Given the description of an element on the screen output the (x, y) to click on. 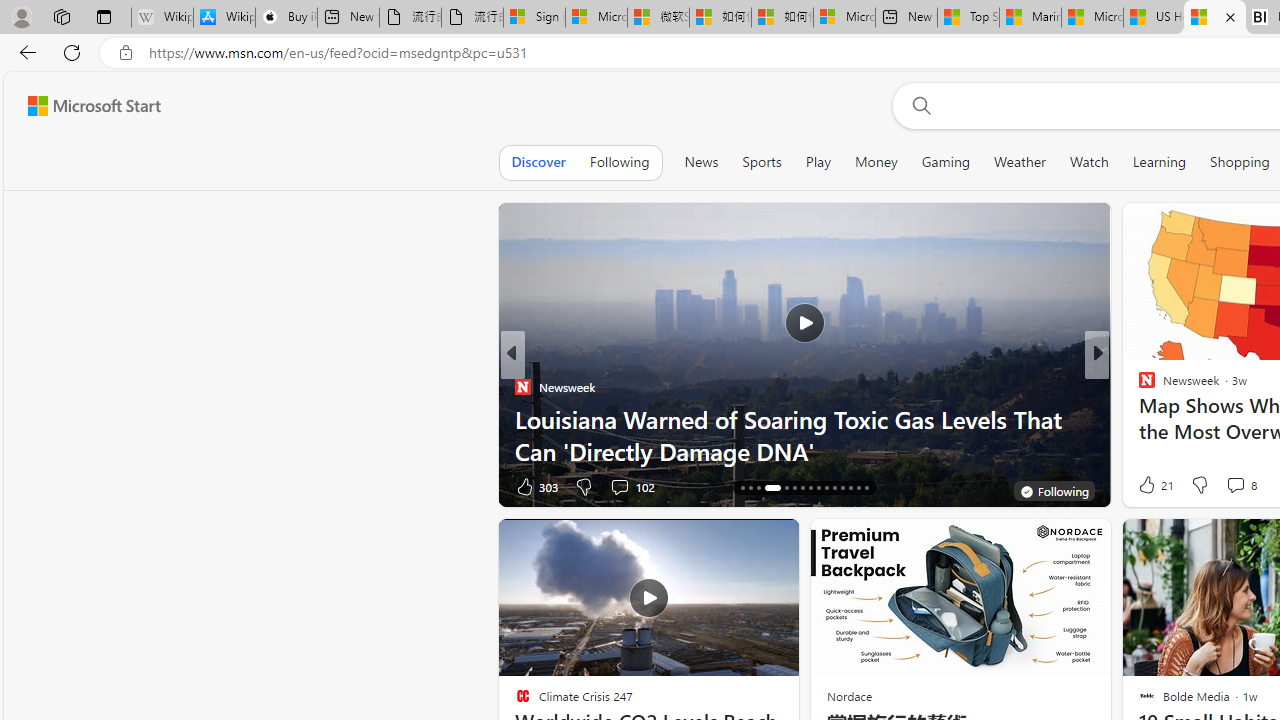
AutomationID: tab-29 (857, 487)
Hide this story (738, 542)
Reader's Digest (1138, 418)
View comments 31 Comment (1229, 485)
